Given the description of an element on the screen output the (x, y) to click on. 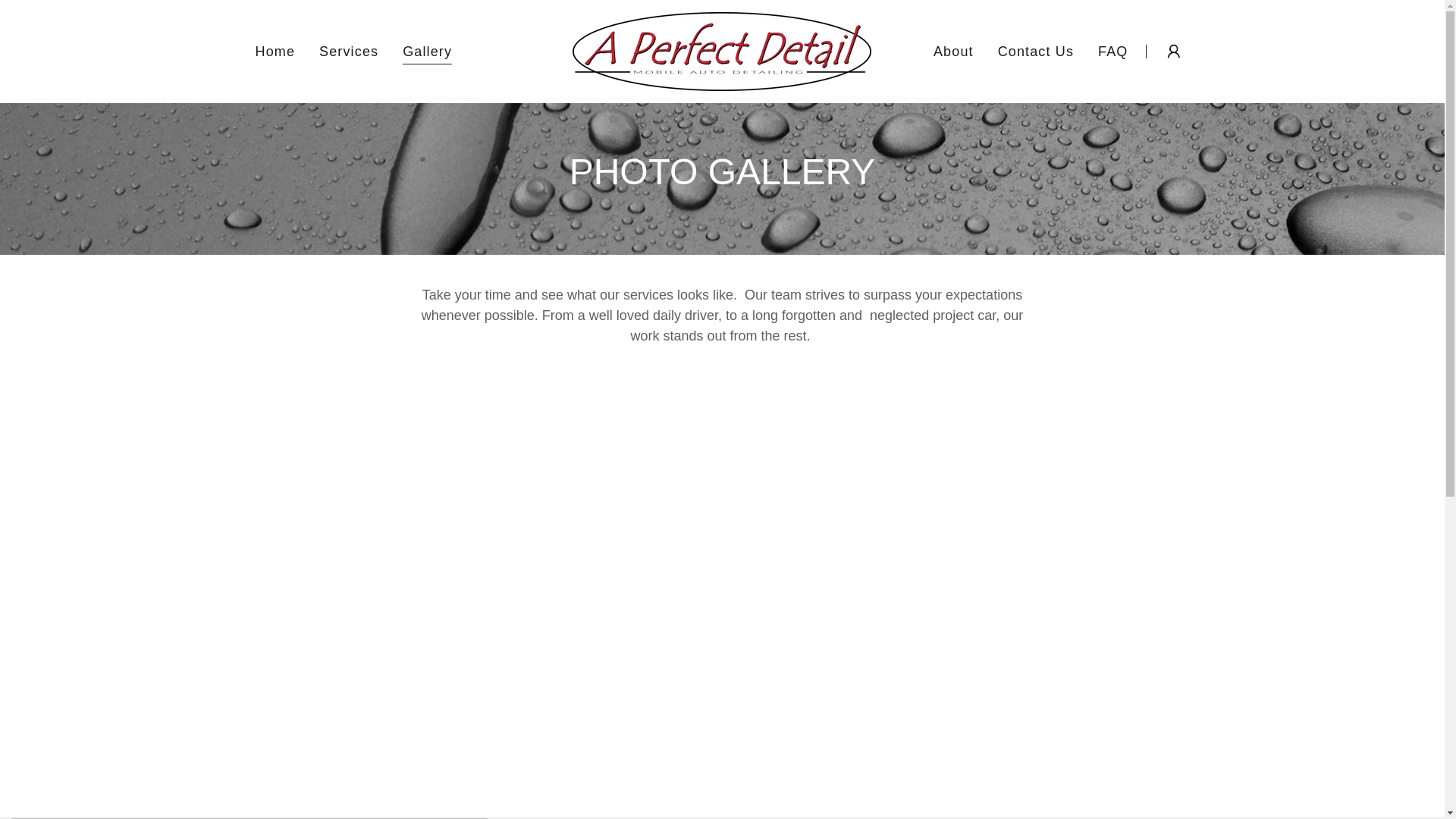
Home (274, 51)
About (953, 51)
Gallery (427, 53)
A Perfect Detail (721, 50)
FAQ (1112, 51)
Contact Us (1035, 51)
Services (348, 51)
